Given the description of an element on the screen output the (x, y) to click on. 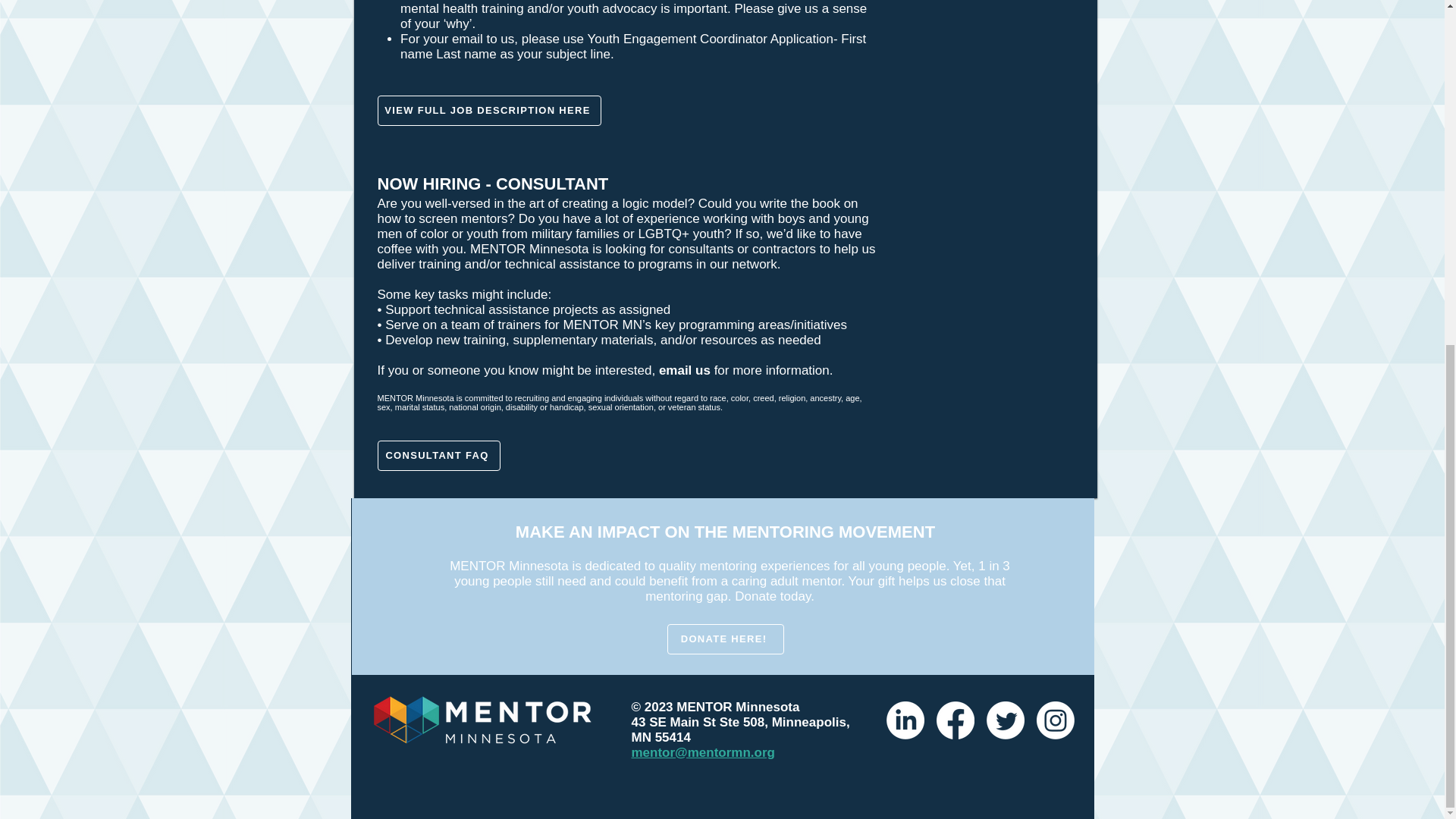
VIEW FULL JOB DESCRIPTION HERE (489, 110)
email us (684, 370)
DONATE HERE! (725, 639)
CONSULTANT FAQ (438, 455)
